Given the description of an element on the screen output the (x, y) to click on. 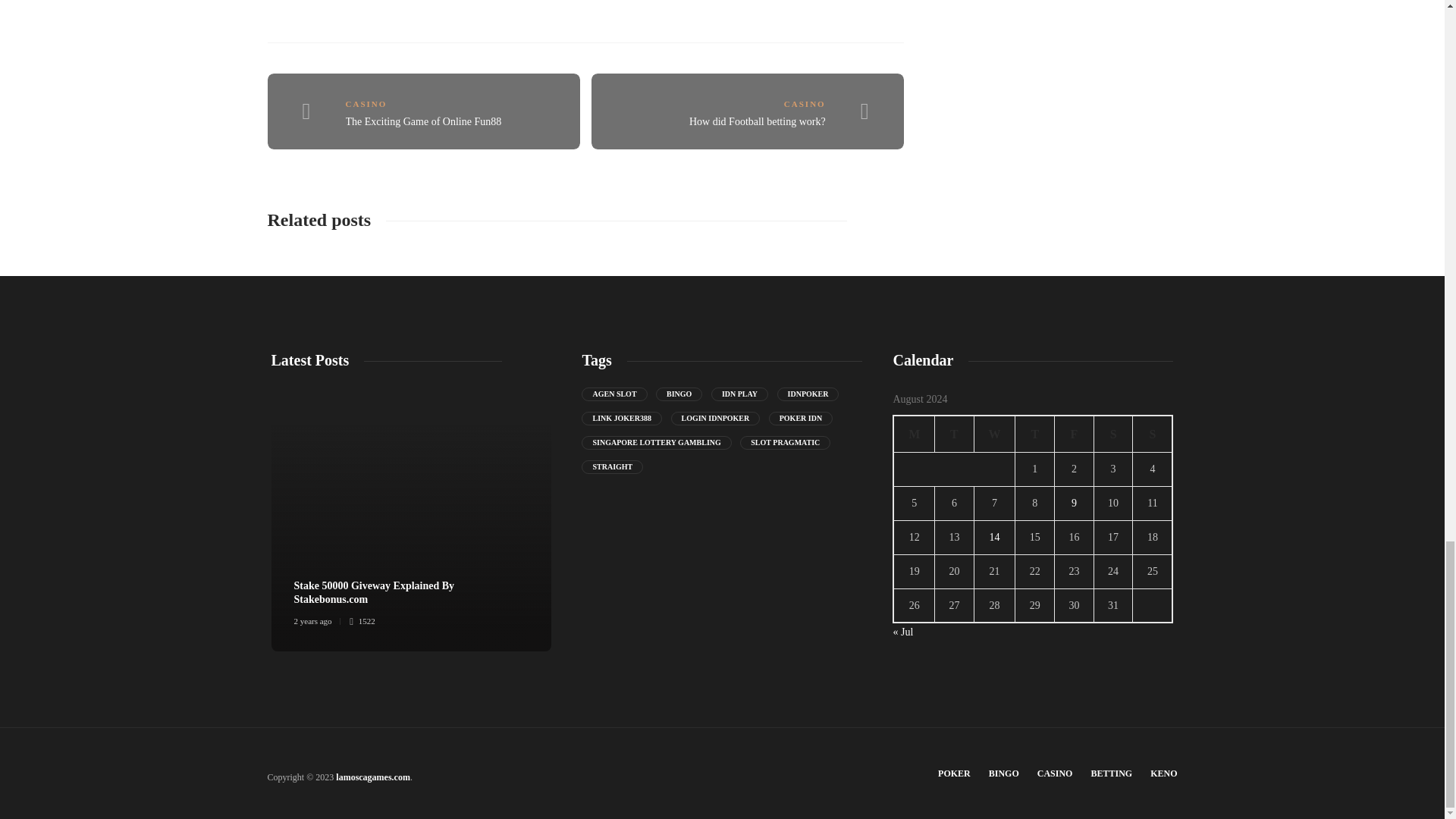
Thursday (1034, 433)
CASINO (366, 103)
Wednesday (994, 433)
Monday (913, 433)
Saturday (1112, 433)
CASINO (804, 103)
The Exciting Game of Online Fun88 (424, 121)
How did Football betting work? (756, 121)
Tuesday (954, 433)
Sunday (1152, 433)
